Given the description of an element on the screen output the (x, y) to click on. 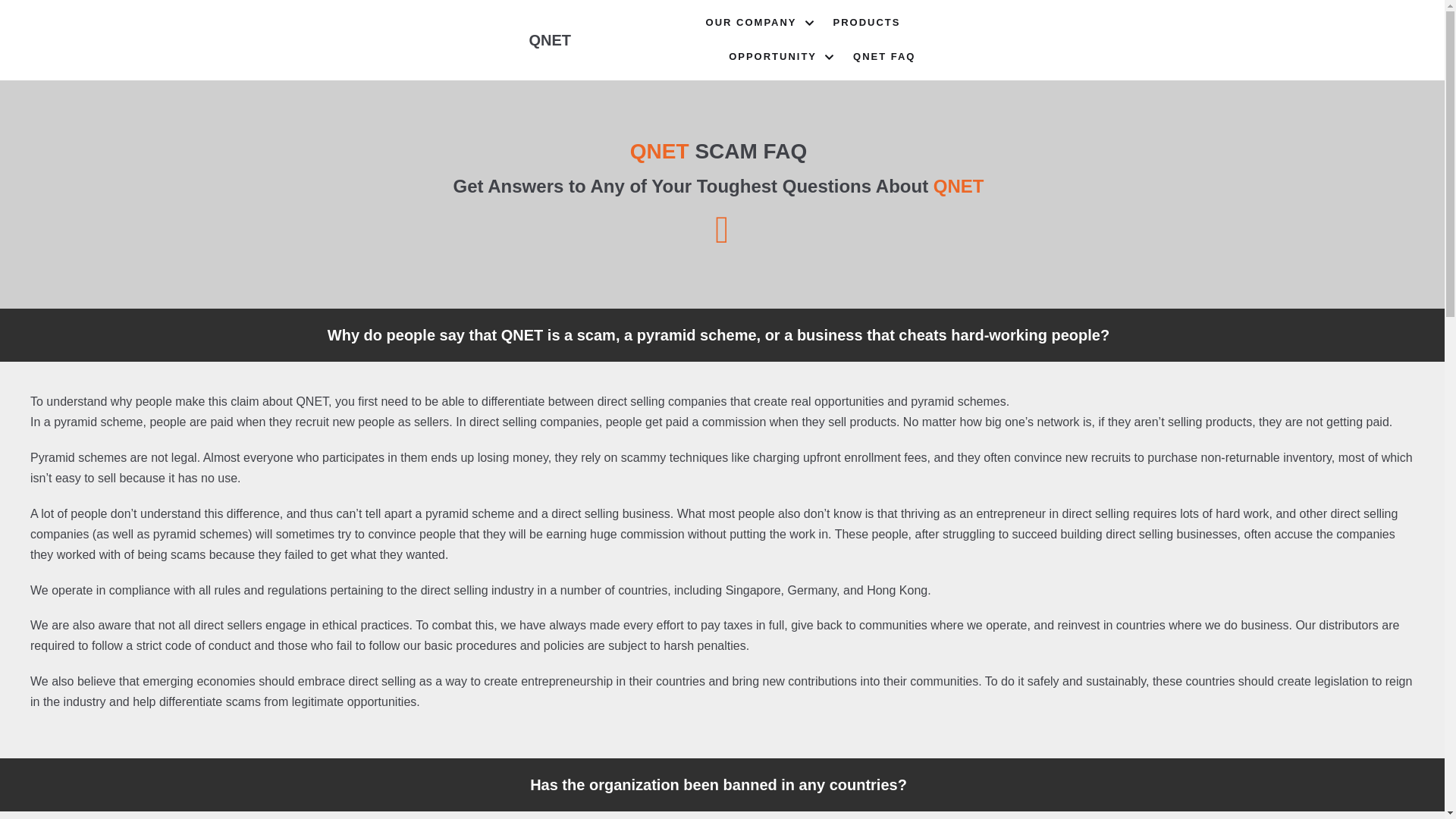
Skip to content (15, 31)
OPPORTUNITY (783, 56)
QNET (550, 40)
QNET FAQ (884, 56)
QNET (550, 40)
OUR COMPANY (762, 22)
PRODUCTS (866, 22)
